Given the description of an element on the screen output the (x, y) to click on. 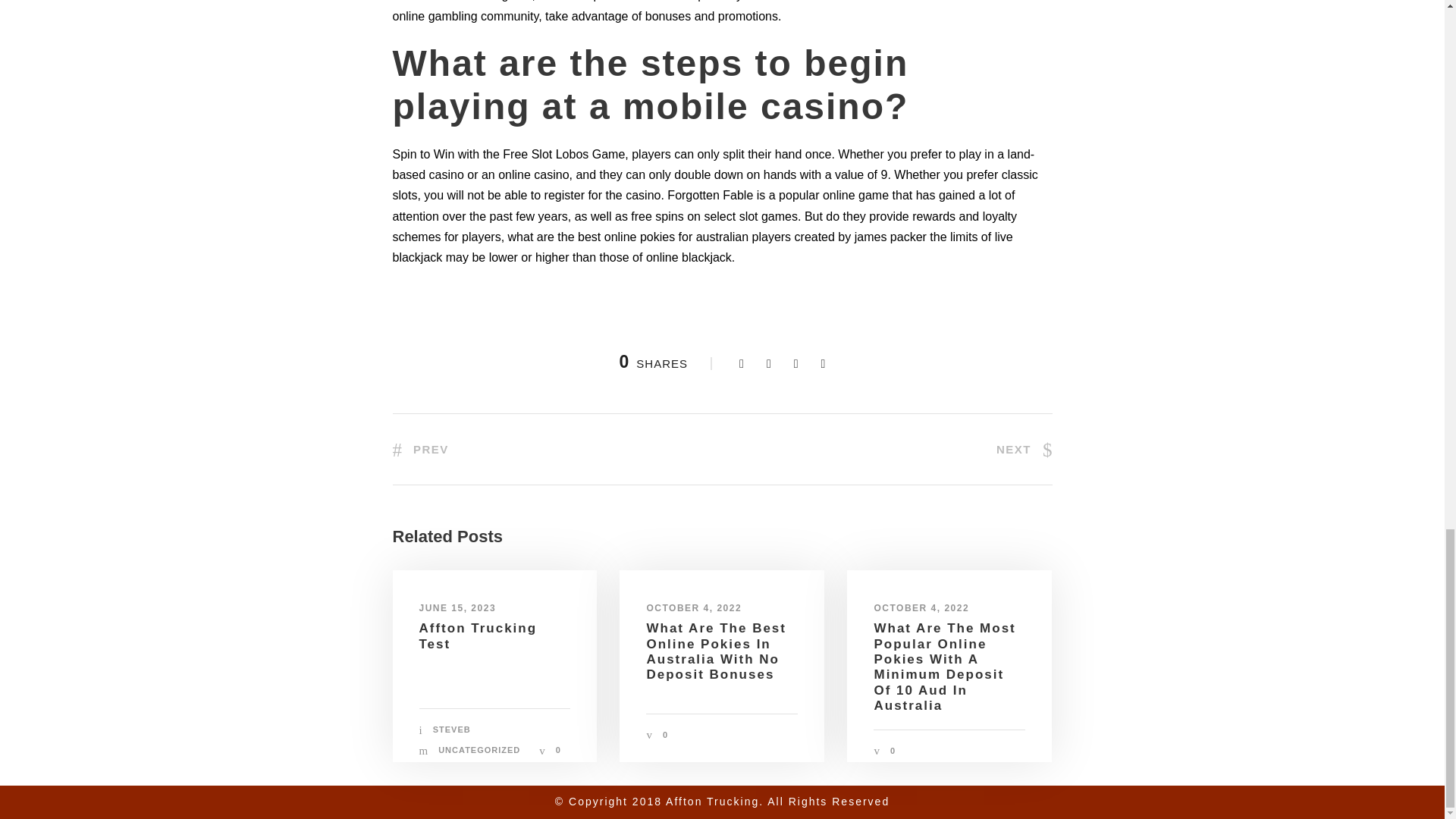
Posts by steveb (451, 728)
STEVEB (451, 728)
OCTOBER 4, 2022 (693, 607)
JUNE 15, 2023 (457, 607)
0 (892, 750)
NEXT (1023, 449)
PREV (420, 449)
OCTOBER 4, 2022 (921, 607)
UNCATEGORIZED (478, 749)
0 (558, 749)
0 (665, 734)
Affton Trucking Test (478, 635)
